Given the description of an element on the screen output the (x, y) to click on. 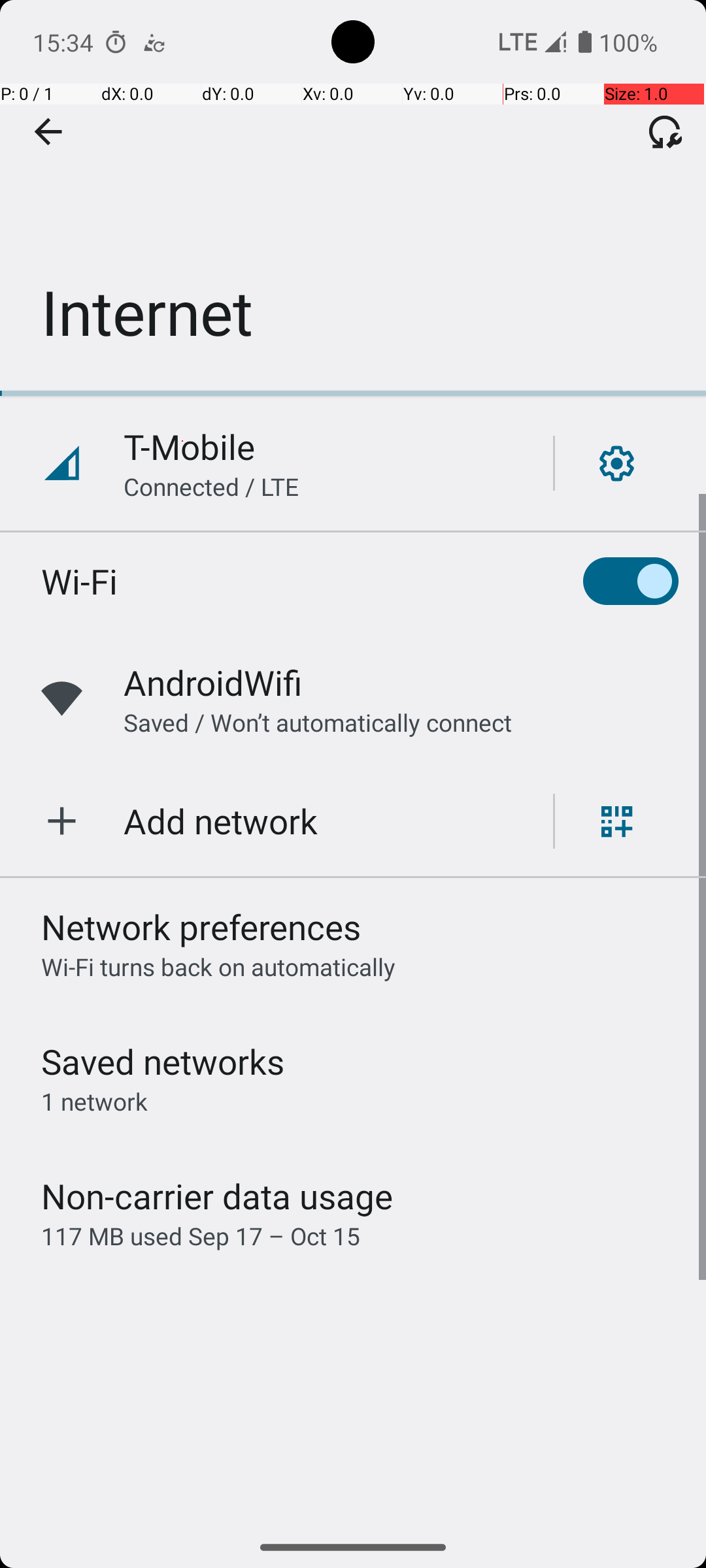
Fix connectivity Element type: android.widget.TextView (664, 131)
AndroidWifi,Saved / Won’t automatically connect,Wifi signal full.,Open network Element type: android.widget.LinearLayout (353, 698)
Connected / LTE Element type: android.widget.TextView (211, 486)
Wi-Fi Element type: android.widget.TextView (79, 580)
AndroidWifi Element type: android.widget.TextView (212, 682)
Saved / Won’t automatically connect Element type: android.widget.TextView (317, 721)
Add network Element type: android.widget.TextView (220, 820)
Scan QR code Element type: android.widget.ImageButton (616, 821)
Network preferences Element type: android.widget.TextView (201, 926)
Wi‑Fi turns back on automatically Element type: android.widget.TextView (218, 966)
Saved networks Element type: android.widget.TextView (163, 1061)
1 network Element type: android.widget.TextView (94, 1100)
Non-carrier data usage Element type: android.widget.TextView (216, 1195)
117 MB used Sep 17 – Oct 15 Element type: android.widget.TextView (200, 1235)
